Given the description of an element on the screen output the (x, y) to click on. 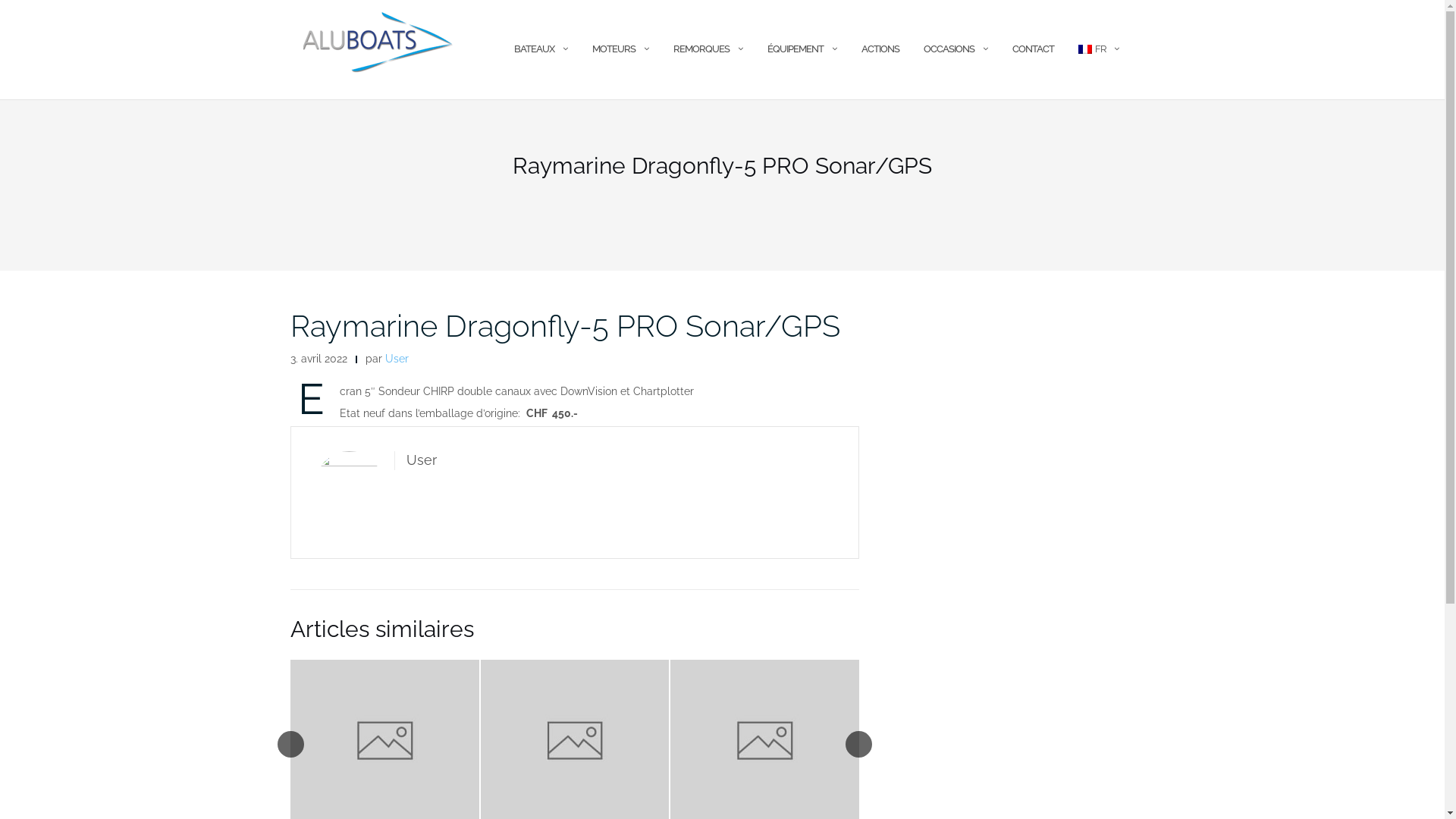
REMORQUES Element type: text (701, 49)
ACTIONS Element type: text (880, 49)
FR Element type: text (1091, 49)
User Element type: text (396, 358)
Raymarine Dragonfly-5 PRO Sonar/GPS Element type: text (564, 325)
BATEAUX Element type: text (534, 49)
CONTACT Element type: text (1032, 49)
MOTEURS Element type: text (612, 49)
OCCASIONS Element type: text (948, 49)
